Given the description of an element on the screen output the (x, y) to click on. 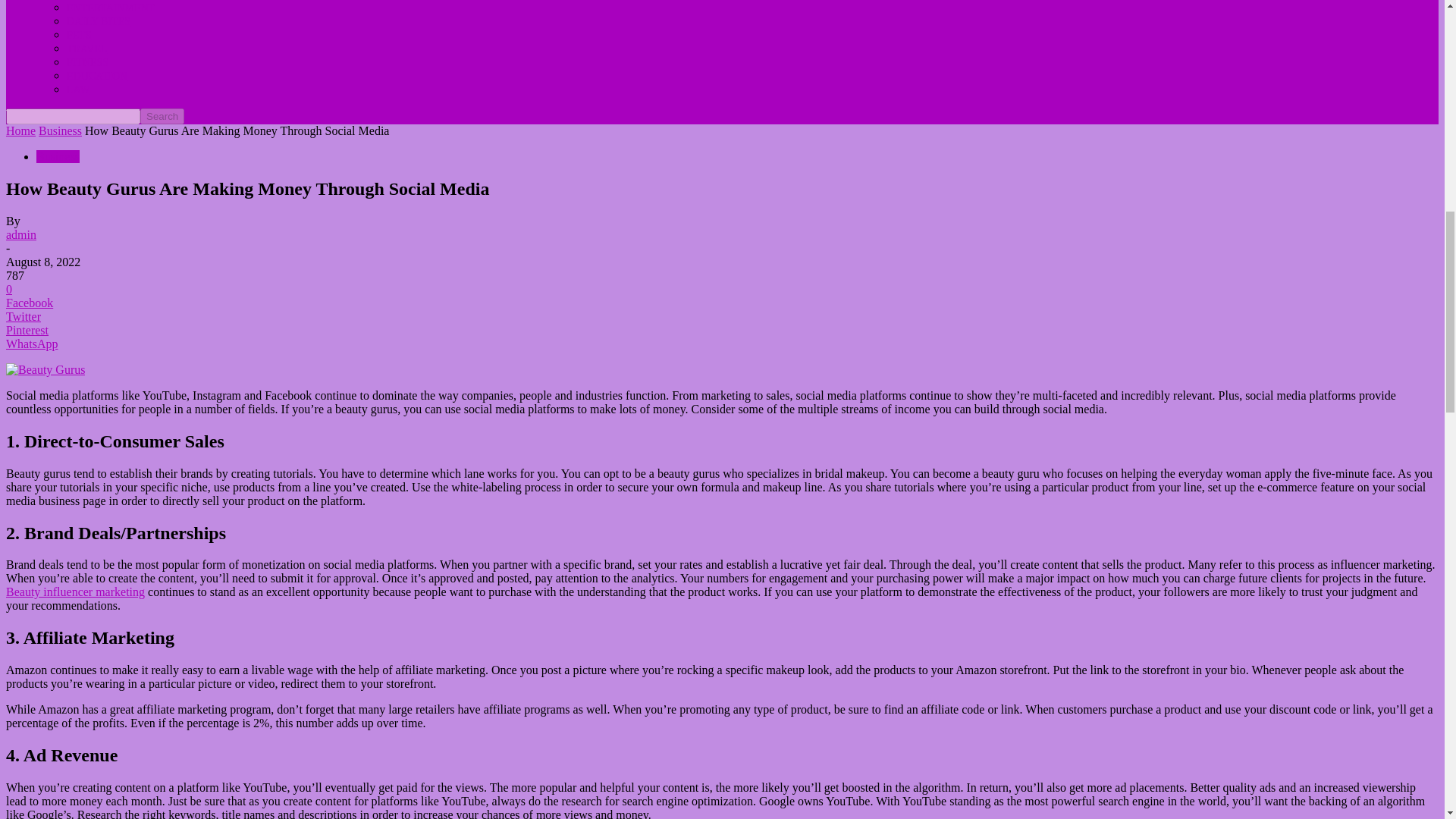
How Beauty Gurus Are Making Money Through Social Media (44, 369)
Search (161, 116)
View all posts in Business (60, 130)
